Given the description of an element on the screen output the (x, y) to click on. 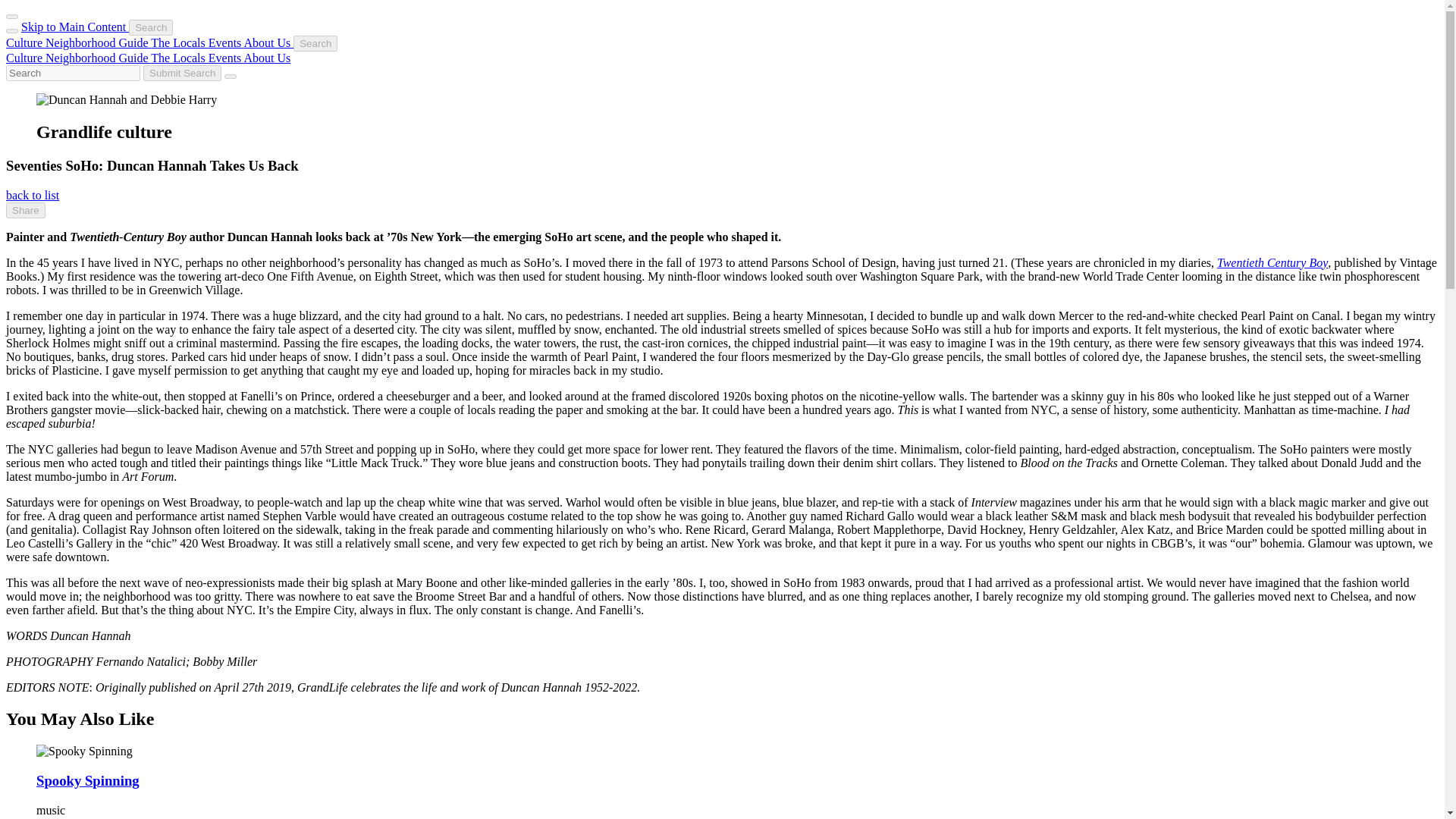
About Us (266, 57)
Share (25, 210)
Skip to Main Content (75, 26)
About Us (266, 57)
Culture (25, 57)
Events (226, 57)
About Us (268, 42)
Neighborhood Guide (98, 57)
Spooky Spinning (87, 780)
Twentieth Century Boy (1272, 262)
